Given the description of an element on the screen output the (x, y) to click on. 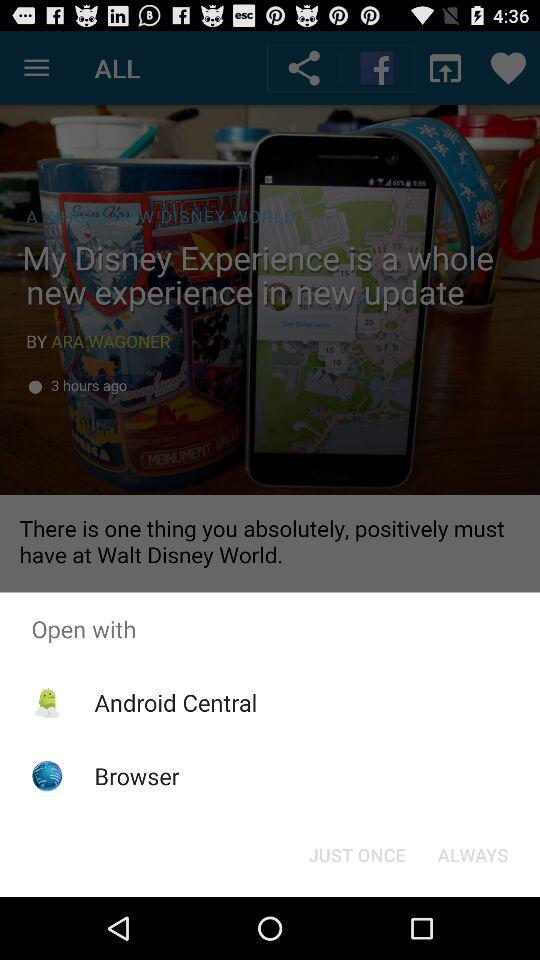
launch browser icon (136, 775)
